Given the description of an element on the screen output the (x, y) to click on. 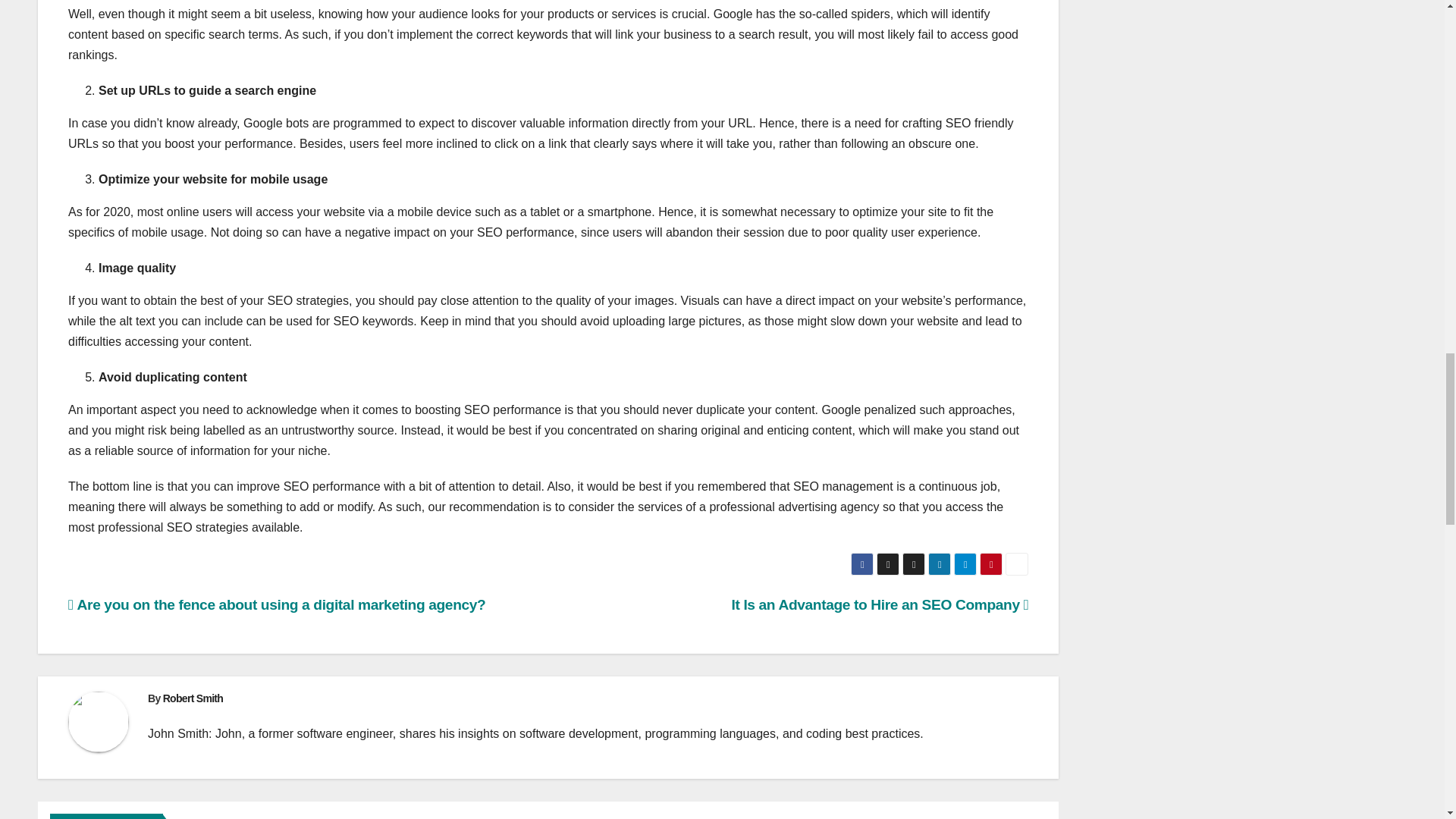
It Is an Advantage to Hire an SEO Company (878, 604)
Robert Smith (193, 698)
Are you on the fence about using a digital marketing agency? (276, 604)
